Given the description of an element on the screen output the (x, y) to click on. 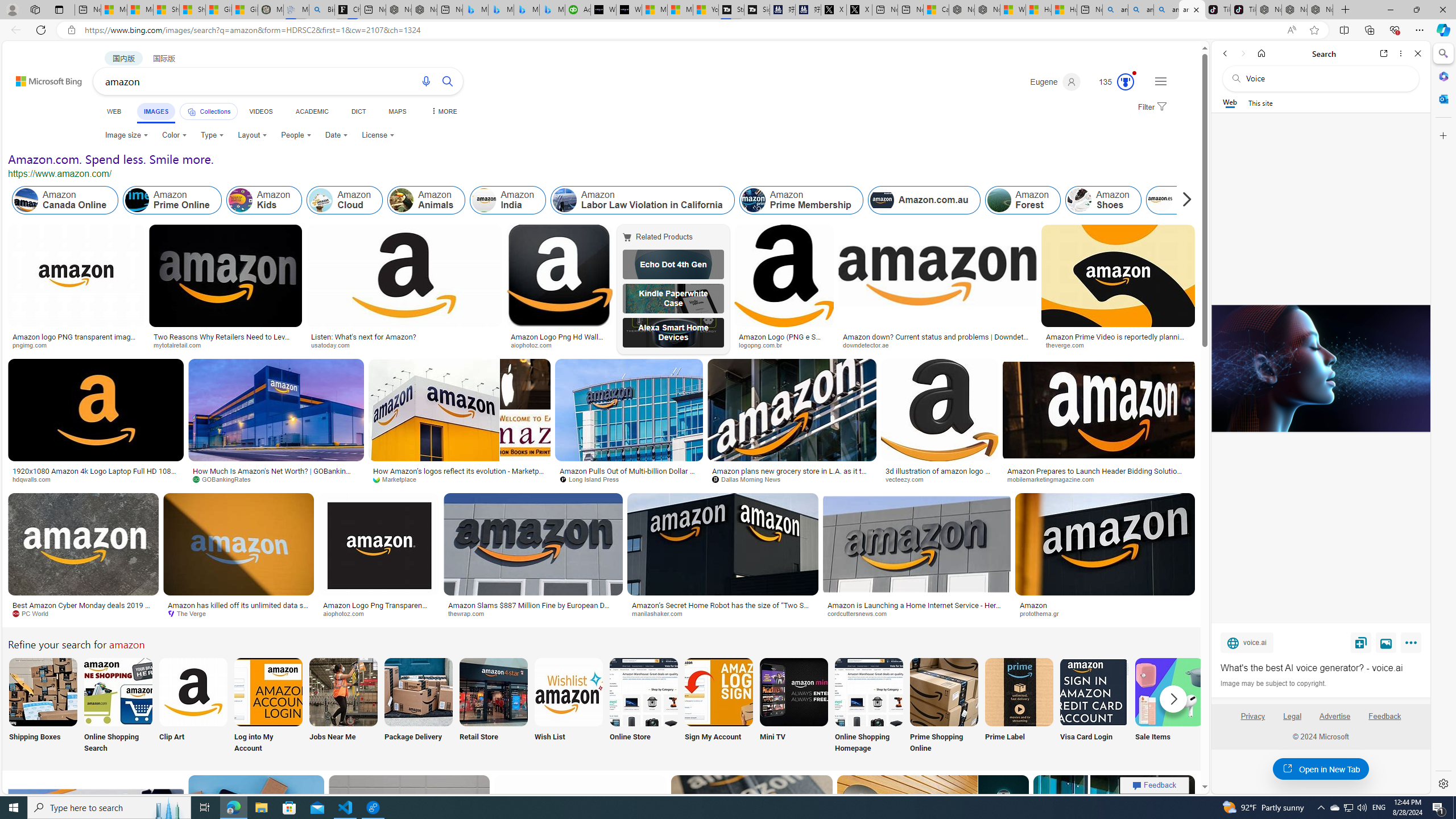
usatoday.com (334, 344)
Amazon Retail Store (493, 691)
Layout (252, 135)
Microsoft Bing Travel - Stays in Bangkok, Bangkok, Thailand (500, 9)
Amazon.com. Spend less. Smile more. (110, 158)
3d illustration of amazon logo 18779928 PNG (939, 474)
Amazon.com.au (881, 200)
PC World (34, 612)
